Given the description of an element on the screen output the (x, y) to click on. 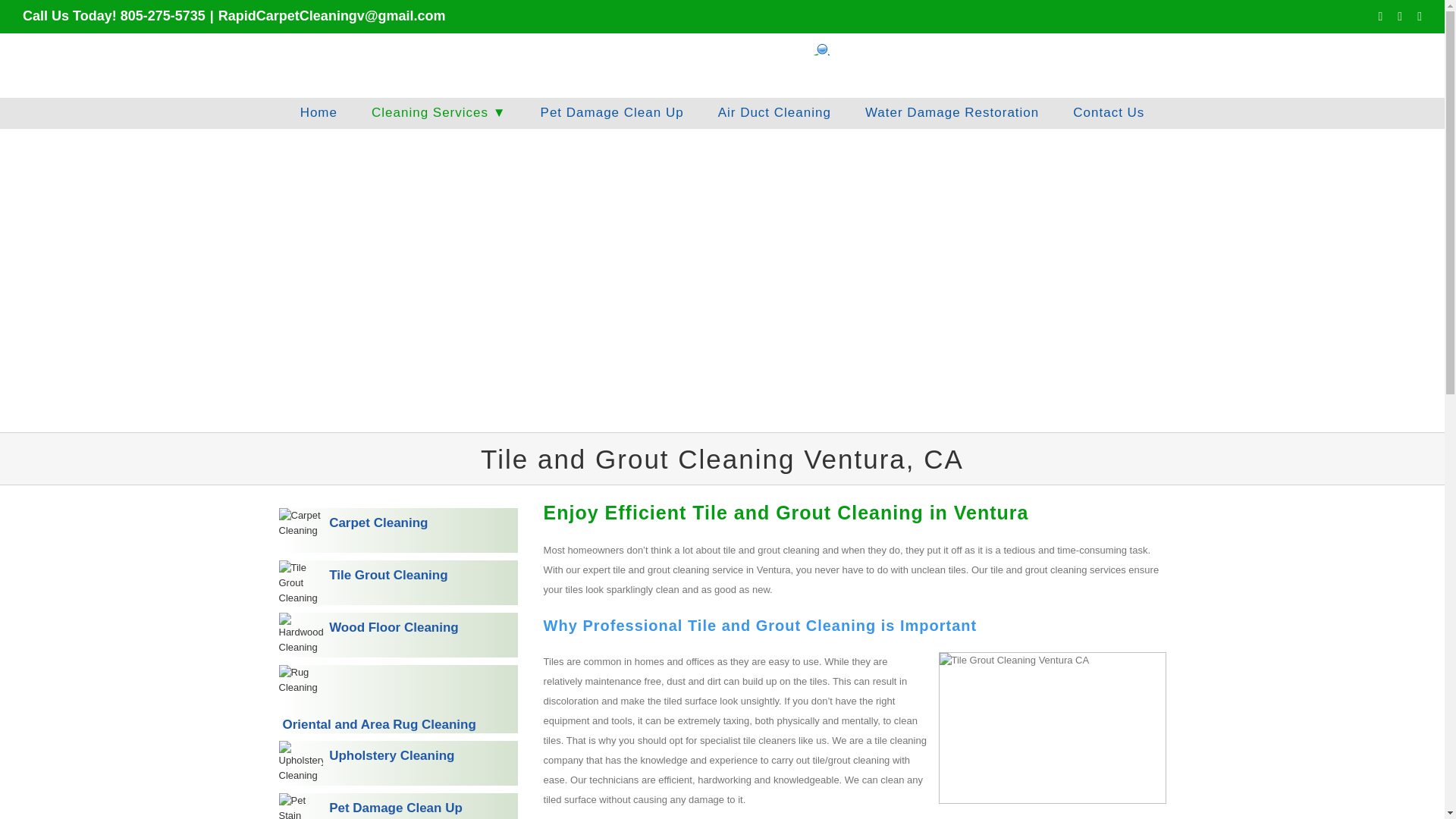
Twitter (1399, 16)
Upholstery Cleaning (398, 763)
Oriental and Area Rug Cleaning (398, 699)
Home (318, 112)
Water Damage Restoration (951, 112)
Facebook (1379, 16)
Pet Damage Clean Up (398, 806)
Pet Damage Clean Up (612, 112)
Facebook (1379, 16)
Contact Us (1108, 112)
Twitter (1399, 16)
Tile Grout Cleaning (398, 582)
Air Duct Cleaning (774, 112)
Wood Floor Cleaning (398, 634)
Carpet Cleaning (398, 529)
